Given the description of an element on the screen output the (x, y) to click on. 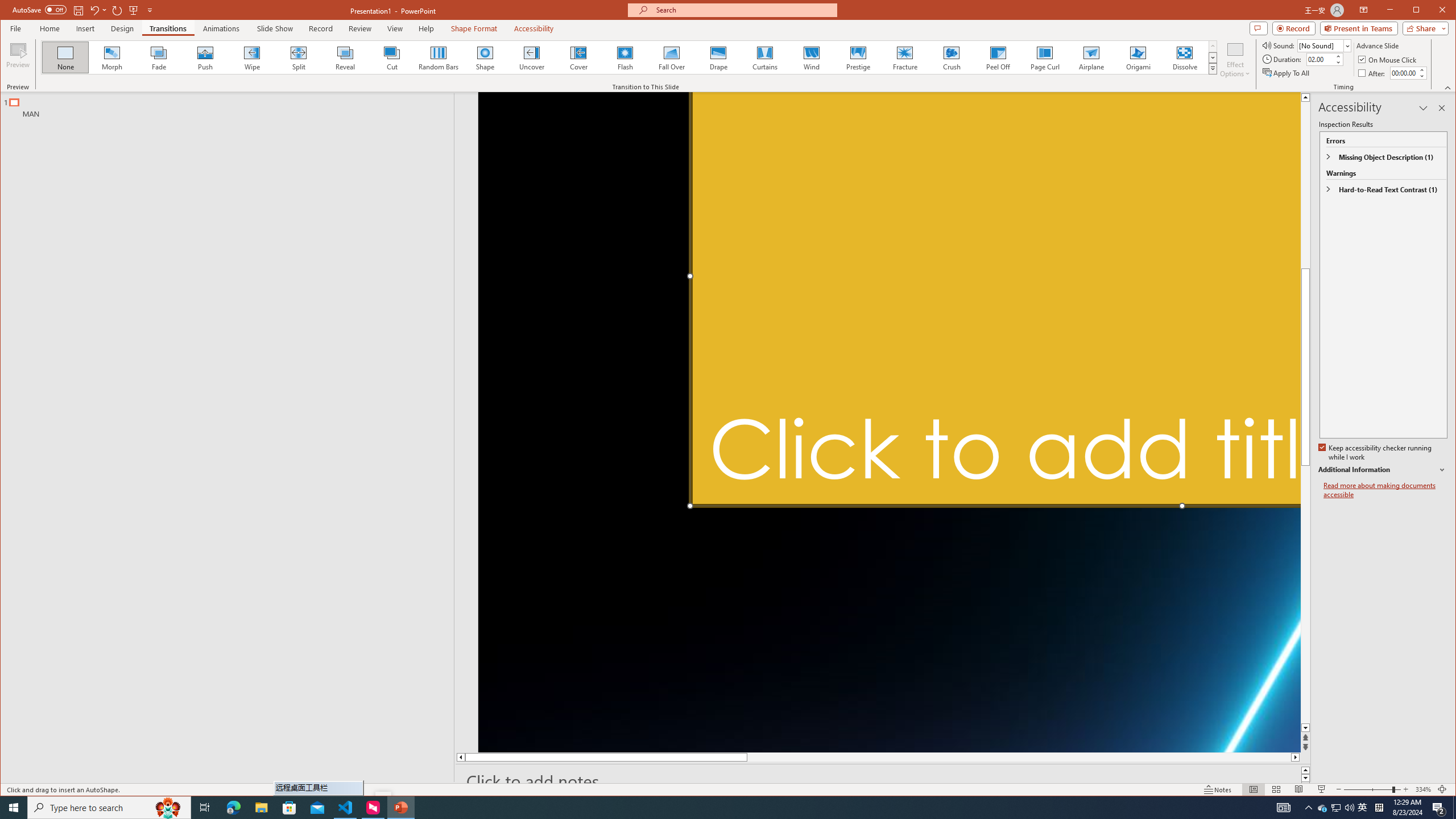
Morph (111, 57)
Less (1421, 75)
Keep accessibility checker running while I work (1375, 452)
Curtains (764, 57)
